Given the description of an element on the screen output the (x, y) to click on. 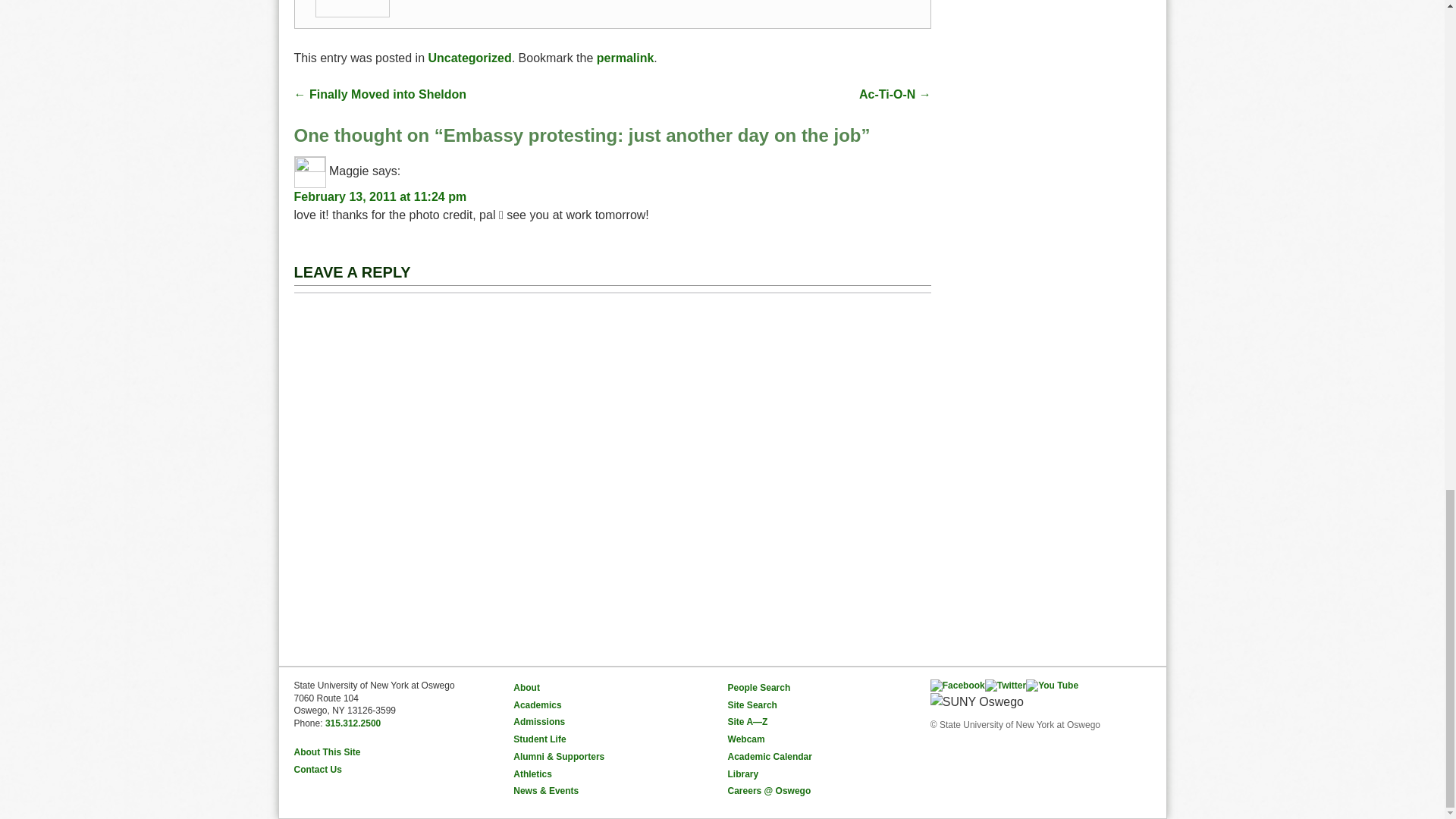
Uncategorized (469, 57)
February 13, 2011 at 11:24 pm (380, 196)
Permalink to Embassy protesting: just another day on the job (624, 57)
permalink (624, 57)
